Given the description of an element on the screen output the (x, y) to click on. 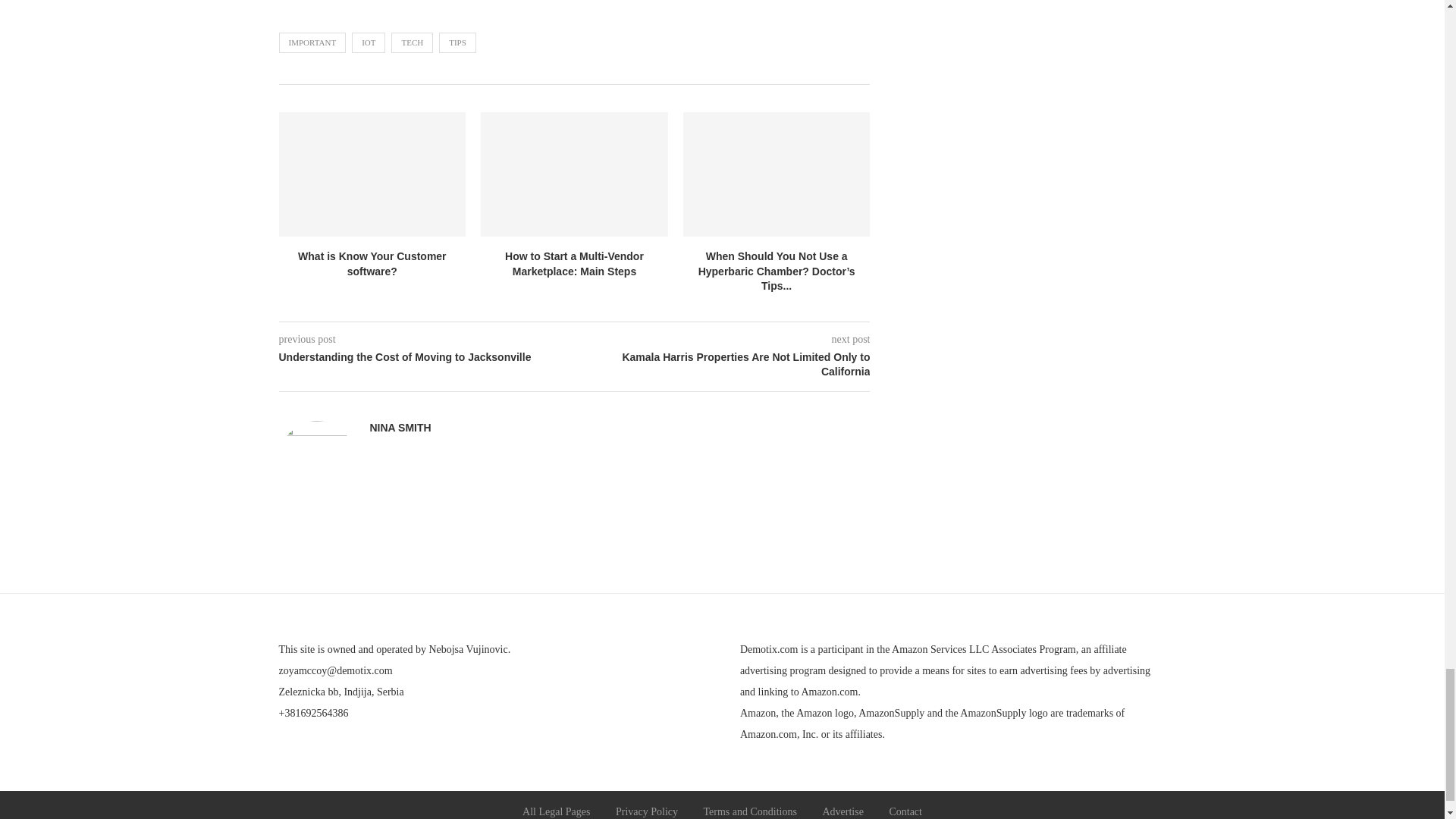
Author Nina Smith (399, 427)
Understanding the Cost of Moving to Jacksonville (427, 357)
What is Know Your Customer software? (372, 174)
Kamala Harris Properties Are Not Limited Only to California (722, 365)
IMPORTANT (312, 42)
What is Know Your Customer software? (372, 263)
TIPS (457, 42)
How to Start a Multi-Vendor Marketplace: Main Steps (574, 174)
NINA SMITH (399, 427)
IOT (368, 42)
TECH (411, 42)
How to Start a Multi-Vendor Marketplace: Main Steps (574, 263)
